Given the description of an element on the screen output the (x, y) to click on. 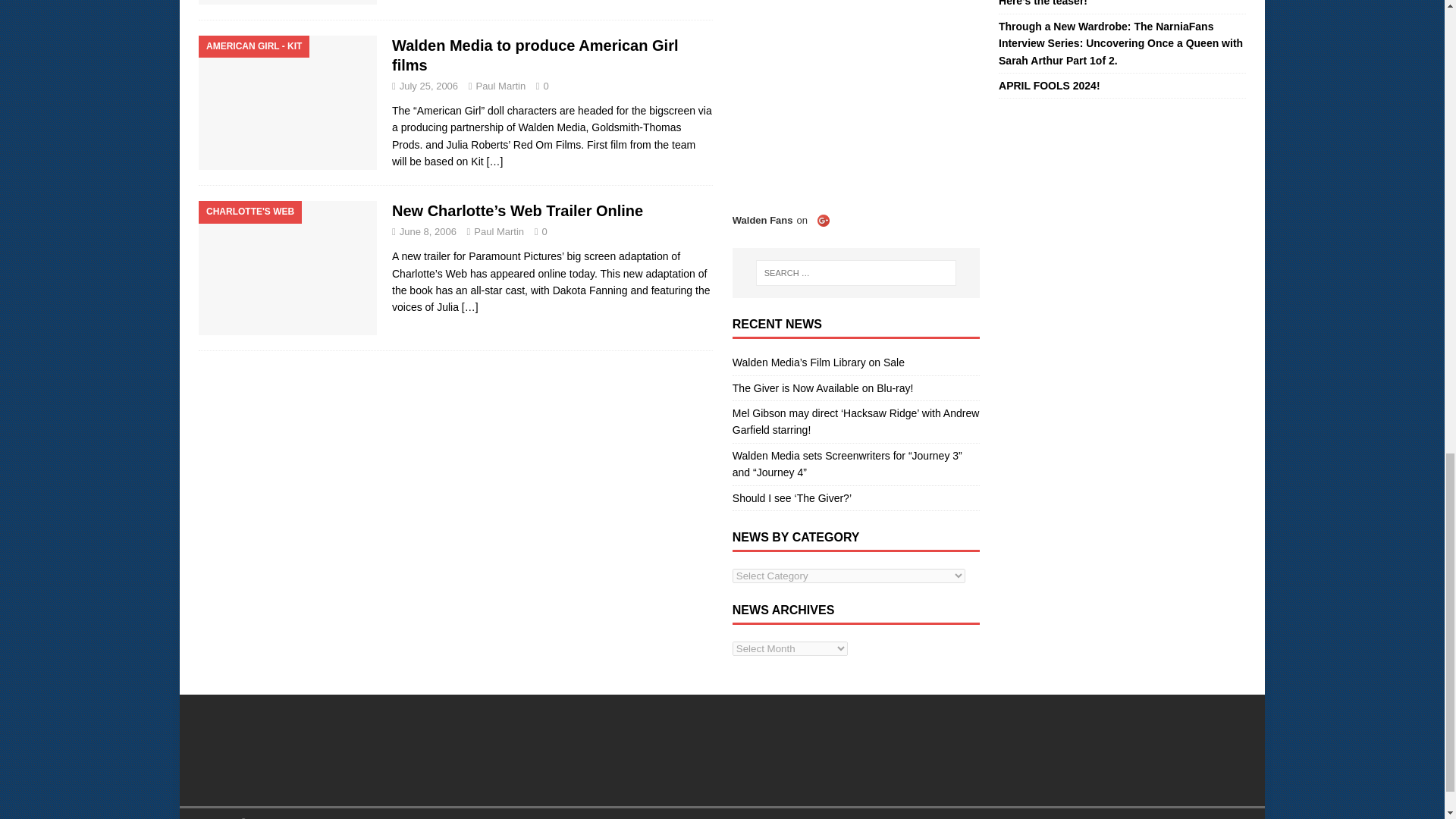
Walden Media to produce American Girl films (534, 54)
Walden Media to produce American Girl films (494, 161)
